Given the description of an element on the screen output the (x, y) to click on. 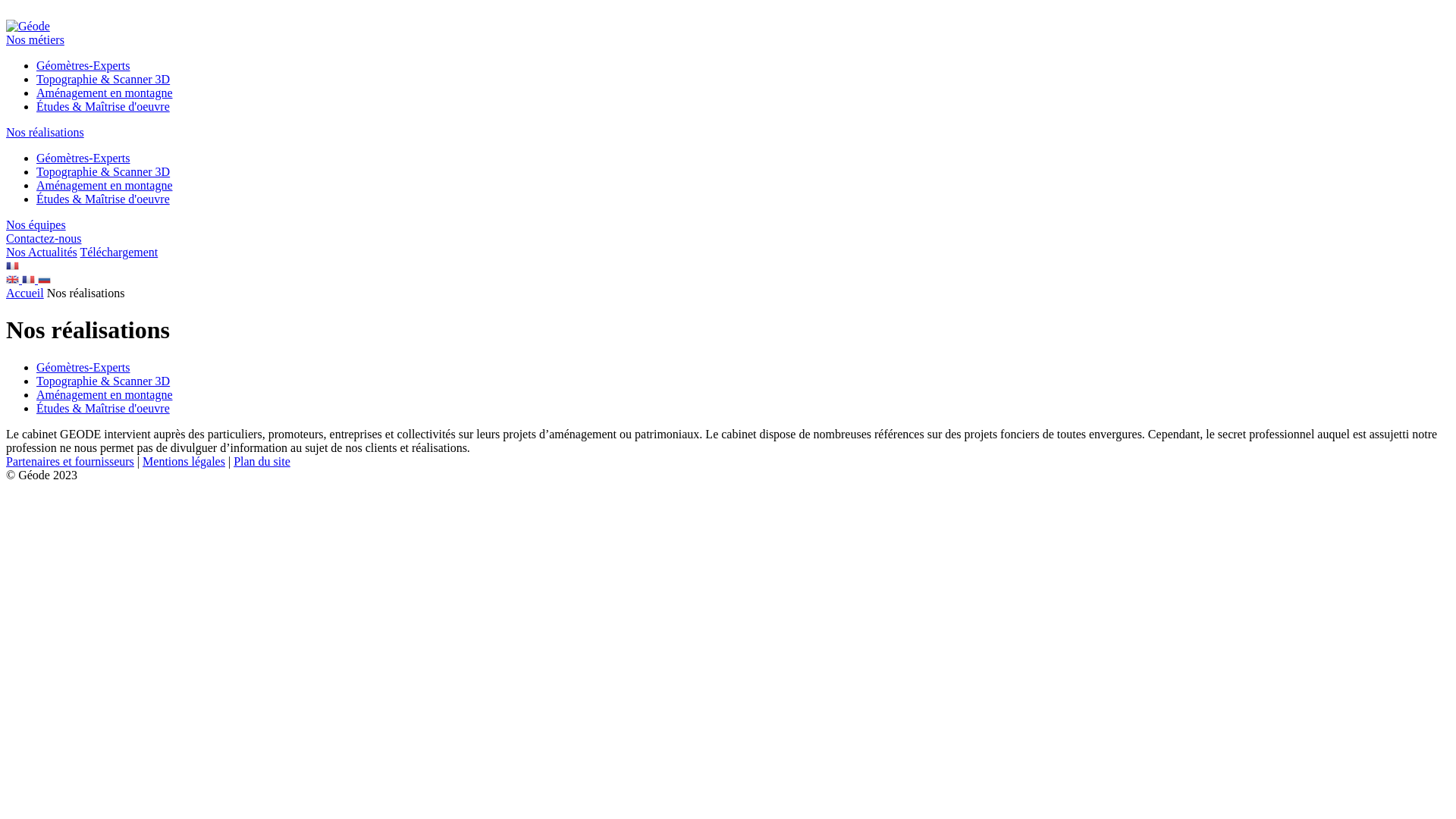
Plan du site Element type: text (261, 461)
Topographie & Scanner 3D Element type: text (102, 171)
Topographie & Scanner 3D Element type: text (102, 380)
Topographie & Scanner 3D Element type: text (102, 78)
Contactez-nous Element type: text (43, 238)
Accueil Element type: text (24, 292)
Partenaires et fournisseurs Element type: text (70, 461)
